Given the description of an element on the screen output the (x, y) to click on. 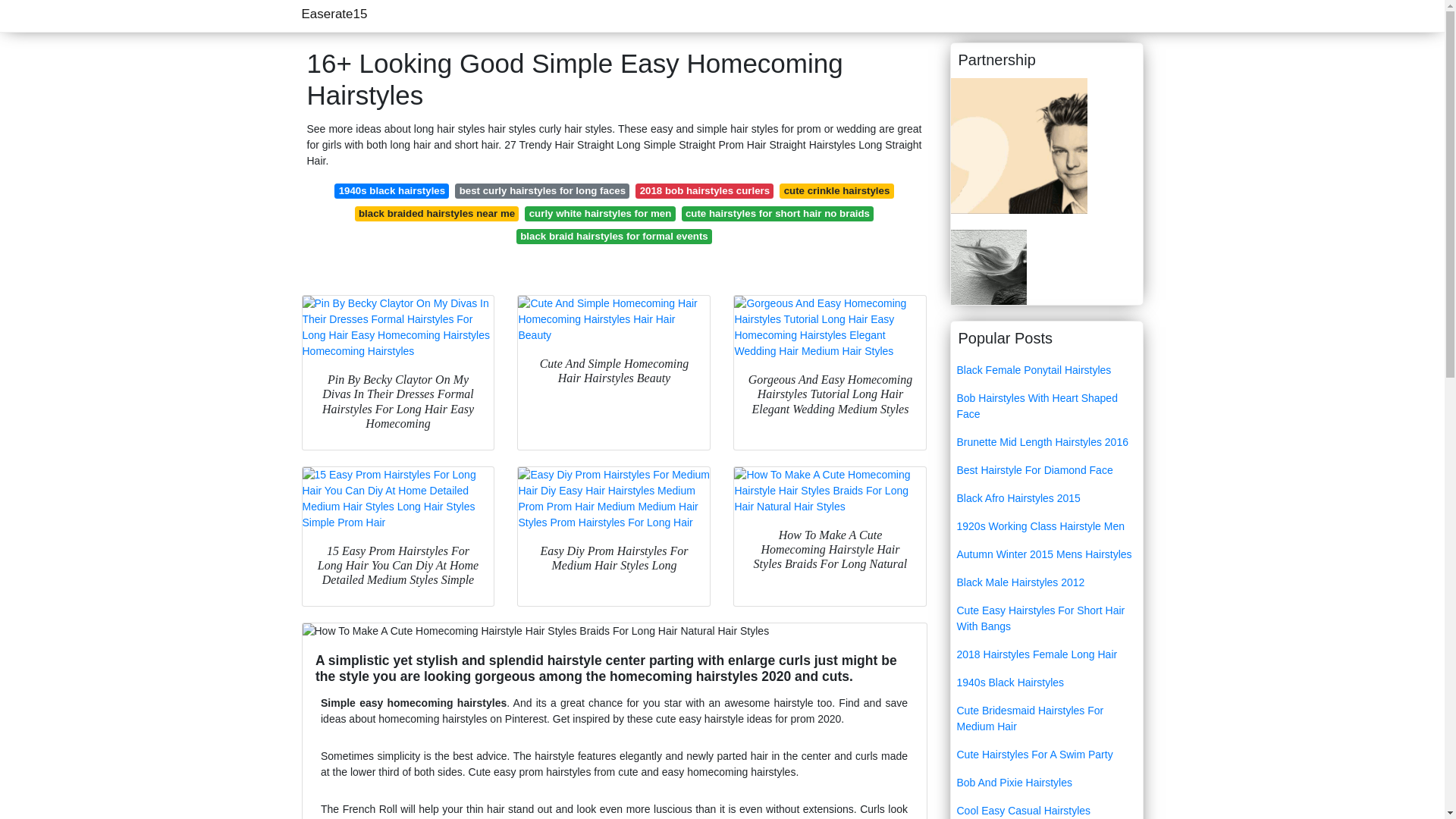
Brunette Mid Length Hairstyles 2016 (1046, 442)
Easerate15 (334, 13)
Best Hairstyle For Diamond Face (1046, 470)
curly white hairstyles for men (599, 213)
2018 Hairstyles Female Long Hair (1046, 654)
1940s black hairstyles (391, 191)
cute crinkle hairstyles (835, 191)
Recoverygarden29 (988, 265)
Cute Hairstyles For A Swim Party (1046, 755)
Black Afro Hairstyles 2015 (1046, 498)
black braided hairstyles near me (437, 213)
Black Male Hairstyles 2012 (1046, 582)
Autumn Winter 2015 Mens Hairstyles (1046, 554)
best curly hairstyles for long faces (541, 191)
1940s Black Hairstyles (1046, 682)
